Given the description of an element on the screen output the (x, y) to click on. 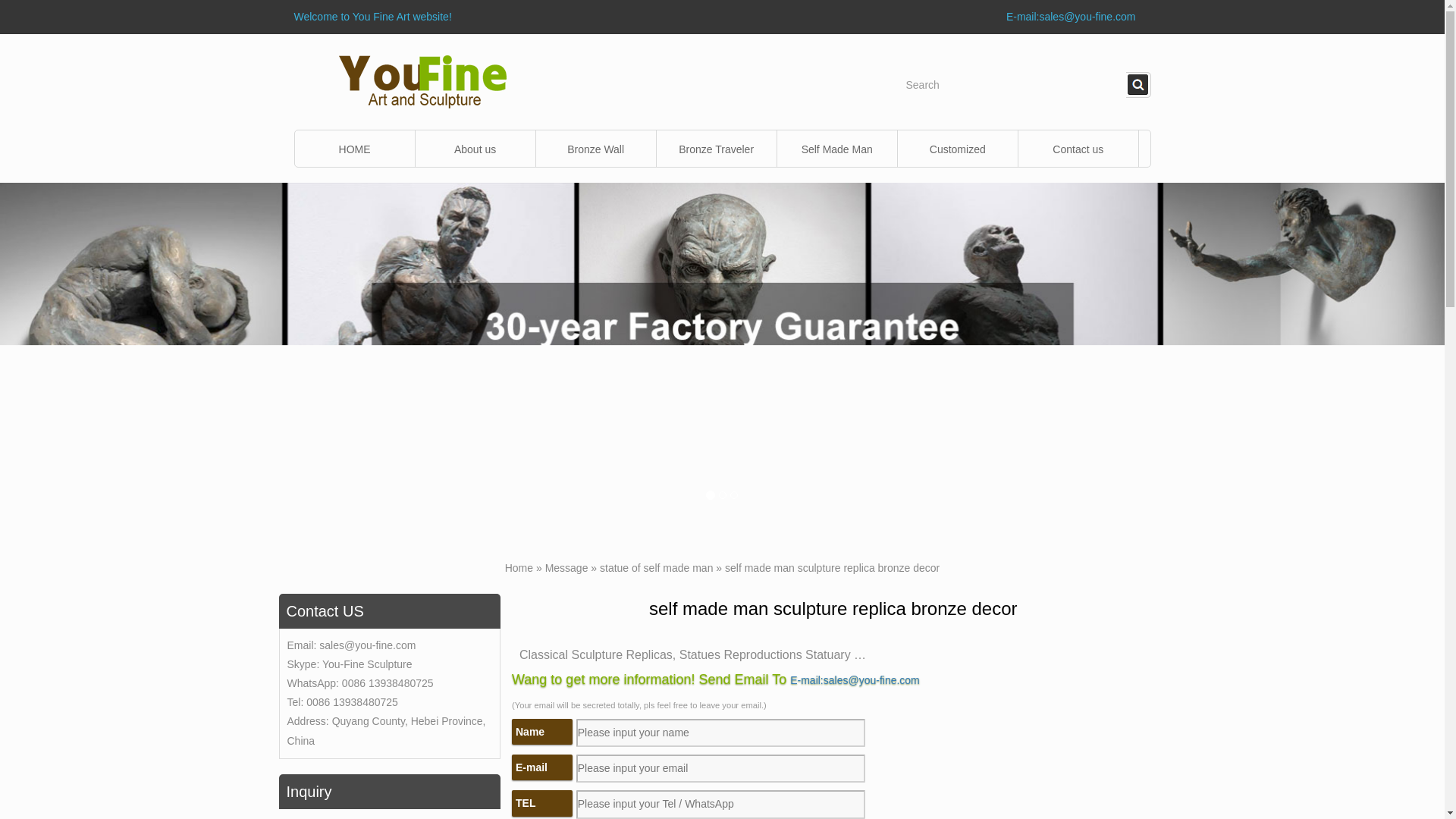
customized statue (957, 149)
statue of self made man (656, 567)
Self Made Man Statue (836, 149)
Bronze Traveler (716, 149)
Bronze Traveler Sculpture (716, 149)
Contact us (1077, 149)
Contact us (1077, 149)
You Fine art sculpture (422, 80)
Bronze Wall Sculpture (595, 149)
Message (566, 567)
